Given the description of an element on the screen output the (x, y) to click on. 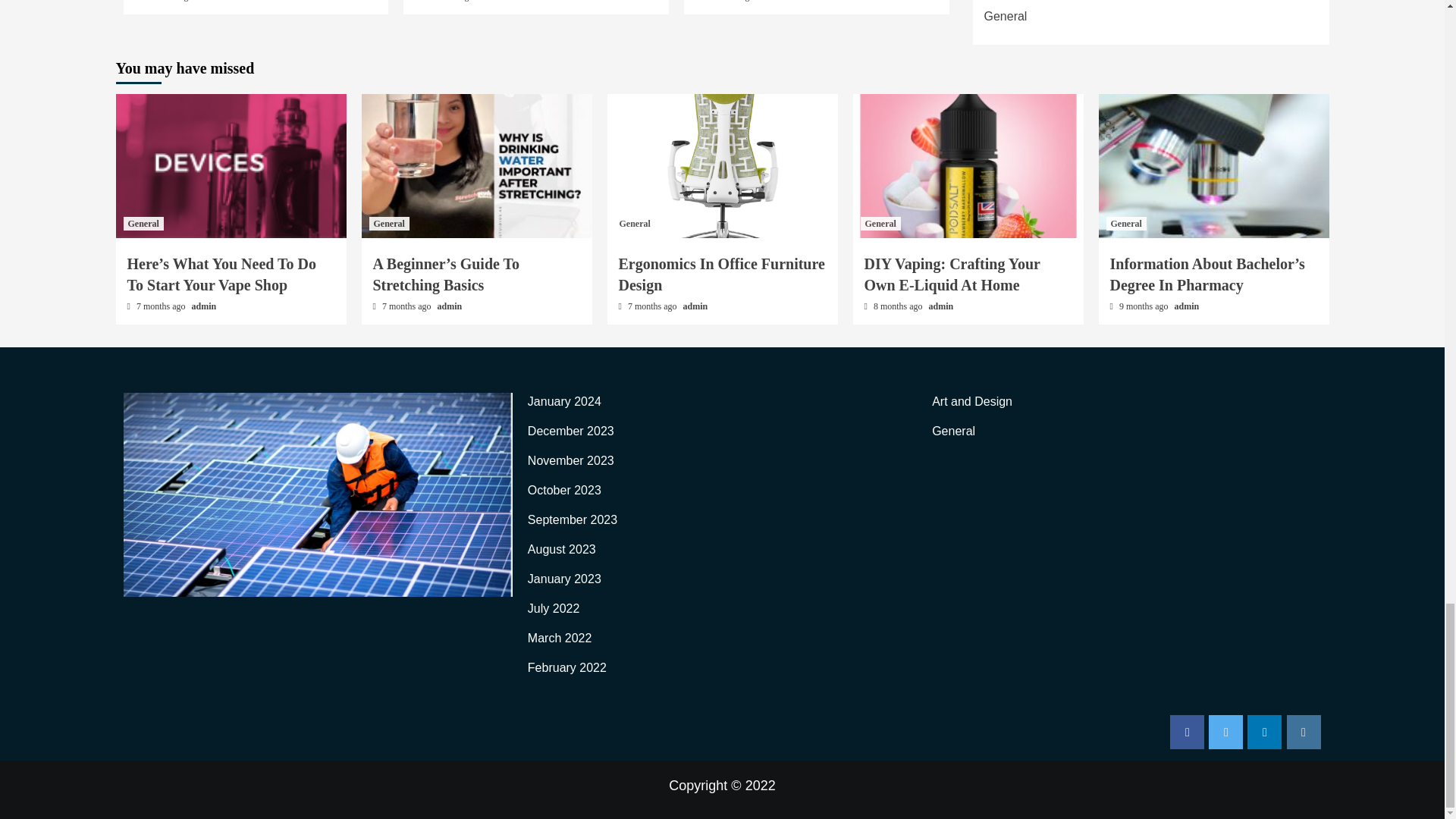
admin (211, 0)
admin (492, 0)
admin (773, 0)
